Given the description of an element on the screen output the (x, y) to click on. 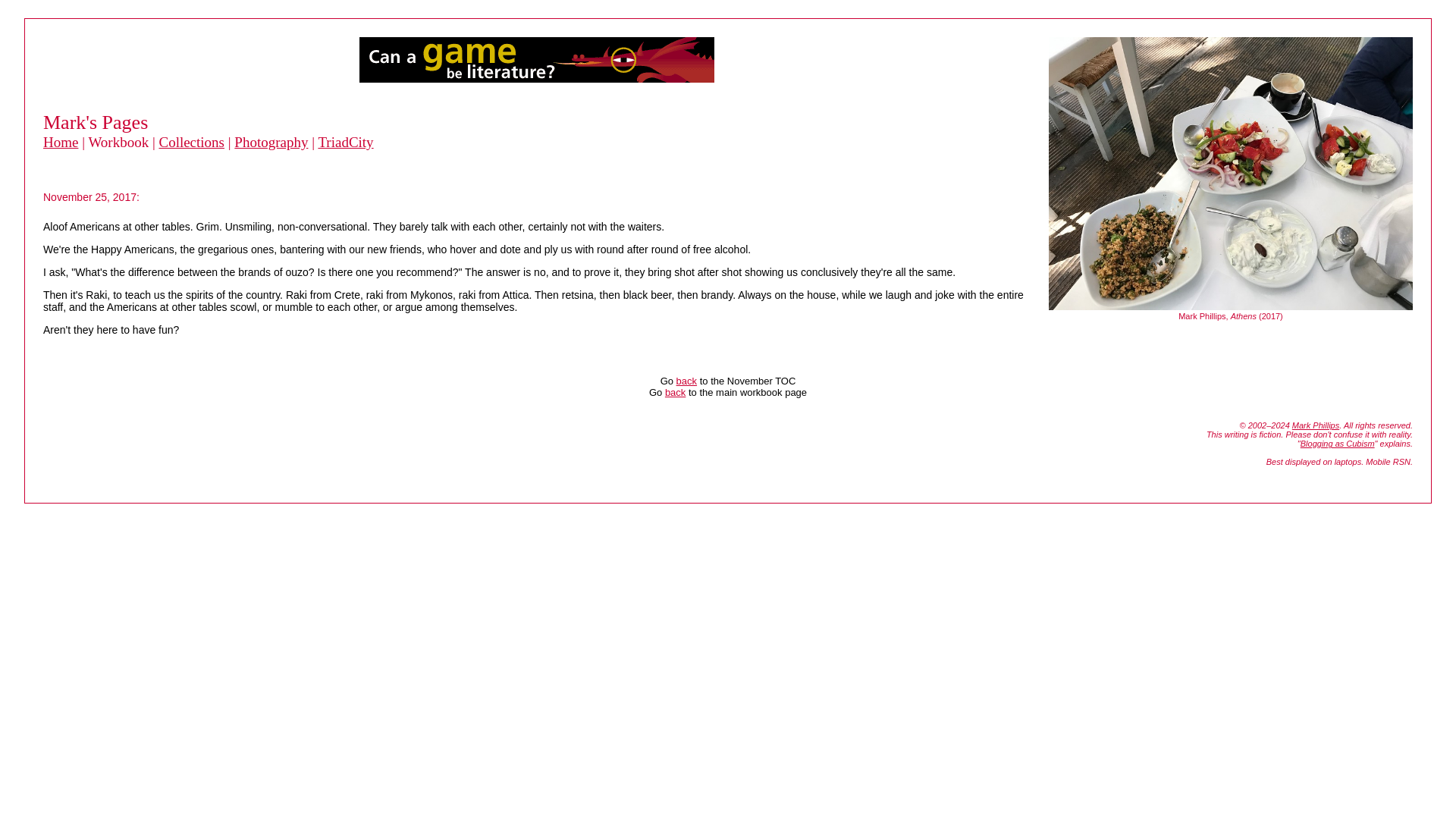
Home (60, 141)
Mark Phillips (1315, 424)
Photography (270, 141)
Collections (191, 141)
back (675, 392)
back (687, 380)
Blogging as Cubism (1337, 442)
TriadCity (344, 141)
